Given the description of an element on the screen output the (x, y) to click on. 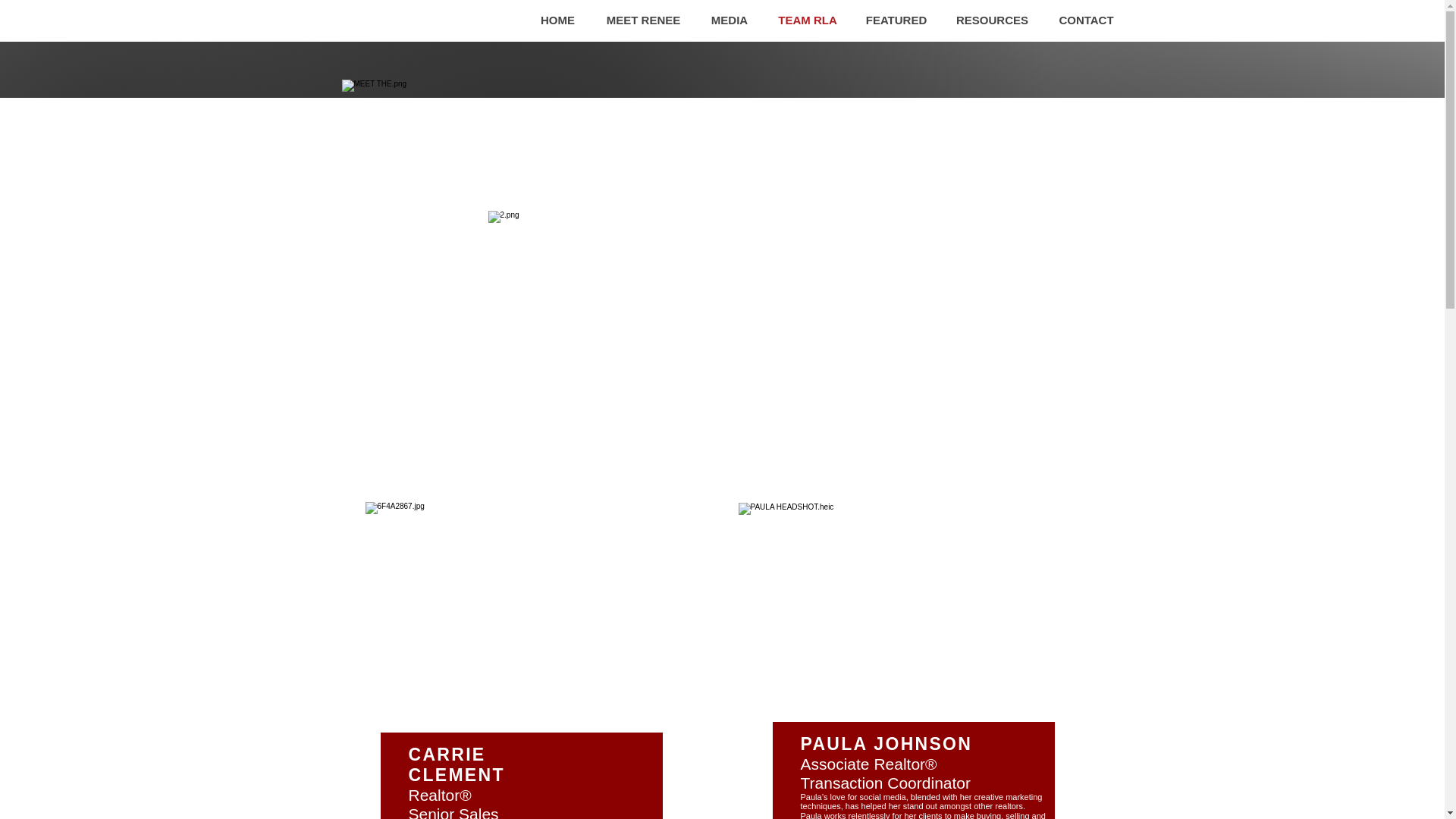
HOME (556, 20)
MEET RENEE (642, 20)
TEAM RLA (807, 20)
CONTACT (1085, 20)
FEATURED (896, 20)
MEDIA (729, 20)
RESOURCES (992, 20)
